Given the description of an element on the screen output the (x, y) to click on. 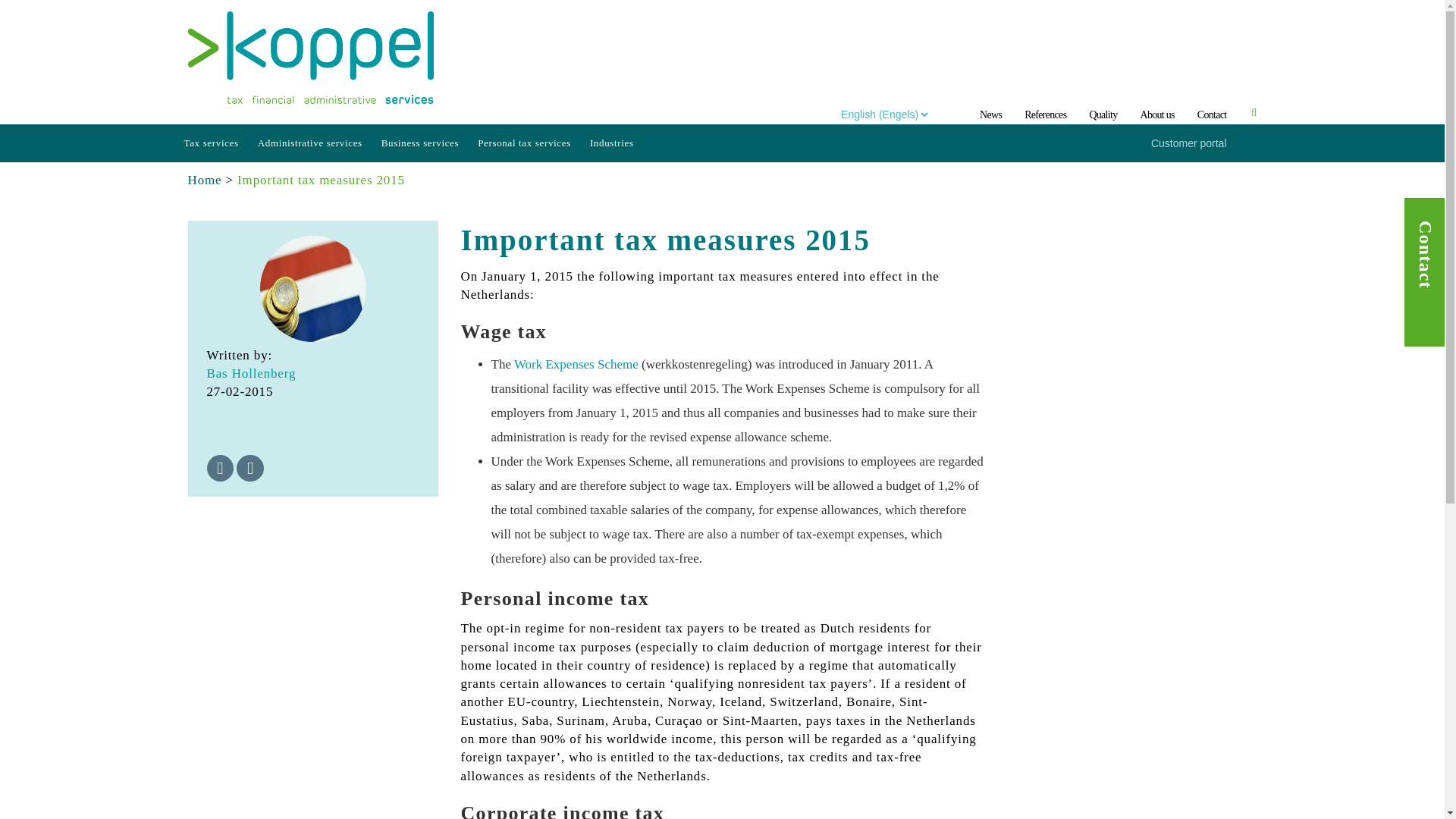
Quality (1102, 114)
References (1045, 114)
References (1045, 114)
Tax services (212, 143)
News (990, 114)
Contact (1212, 114)
Quality (1102, 114)
Contact (1212, 114)
Tax services (212, 143)
About us (1156, 114)
News (990, 114)
About us (1156, 114)
Administrative services (312, 143)
